Given the description of an element on the screen output the (x, y) to click on. 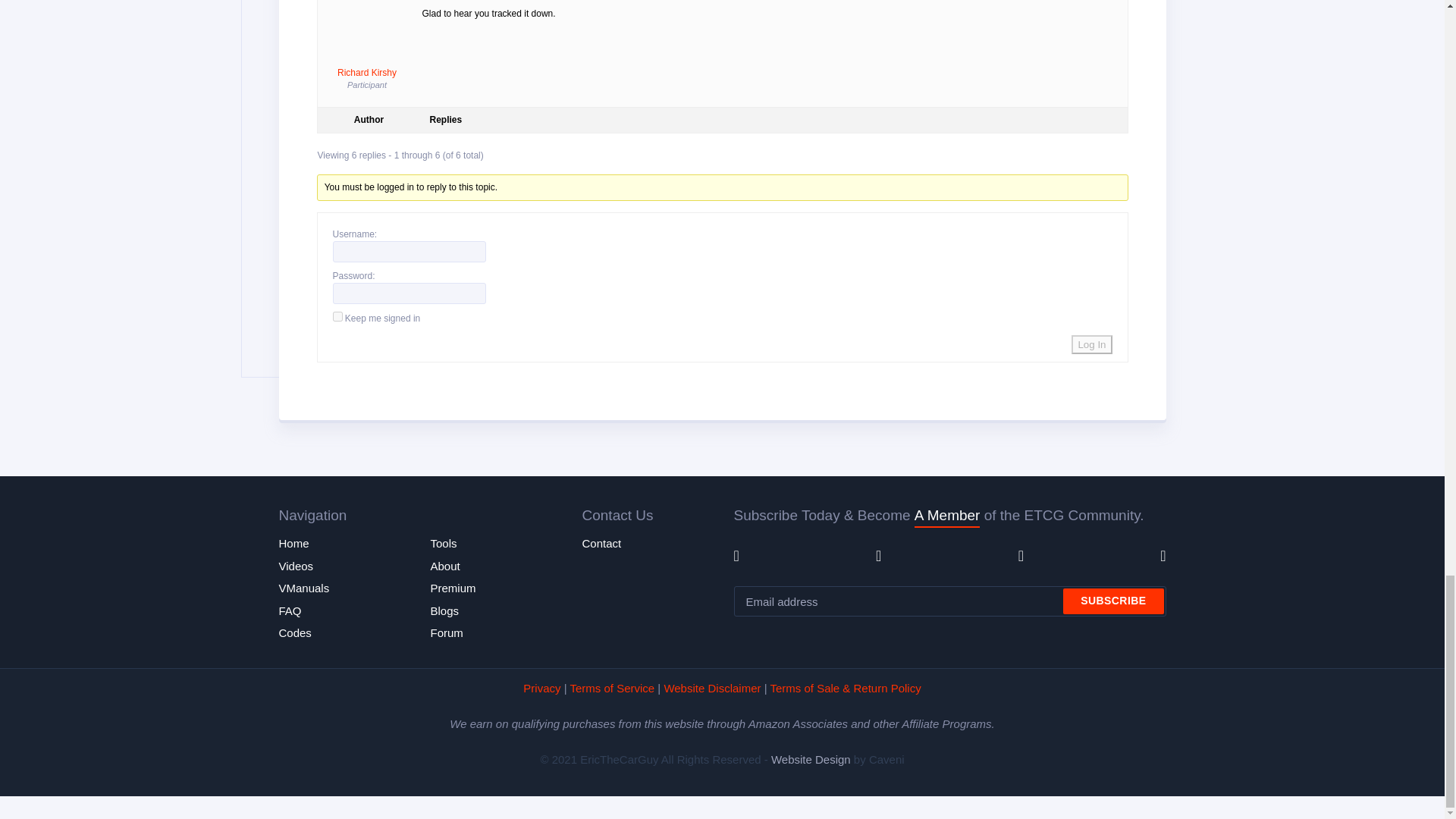
forever (336, 316)
View Richard Kirshy's profile (366, 42)
Subscribe (1112, 601)
